Given the description of an element on the screen output the (x, y) to click on. 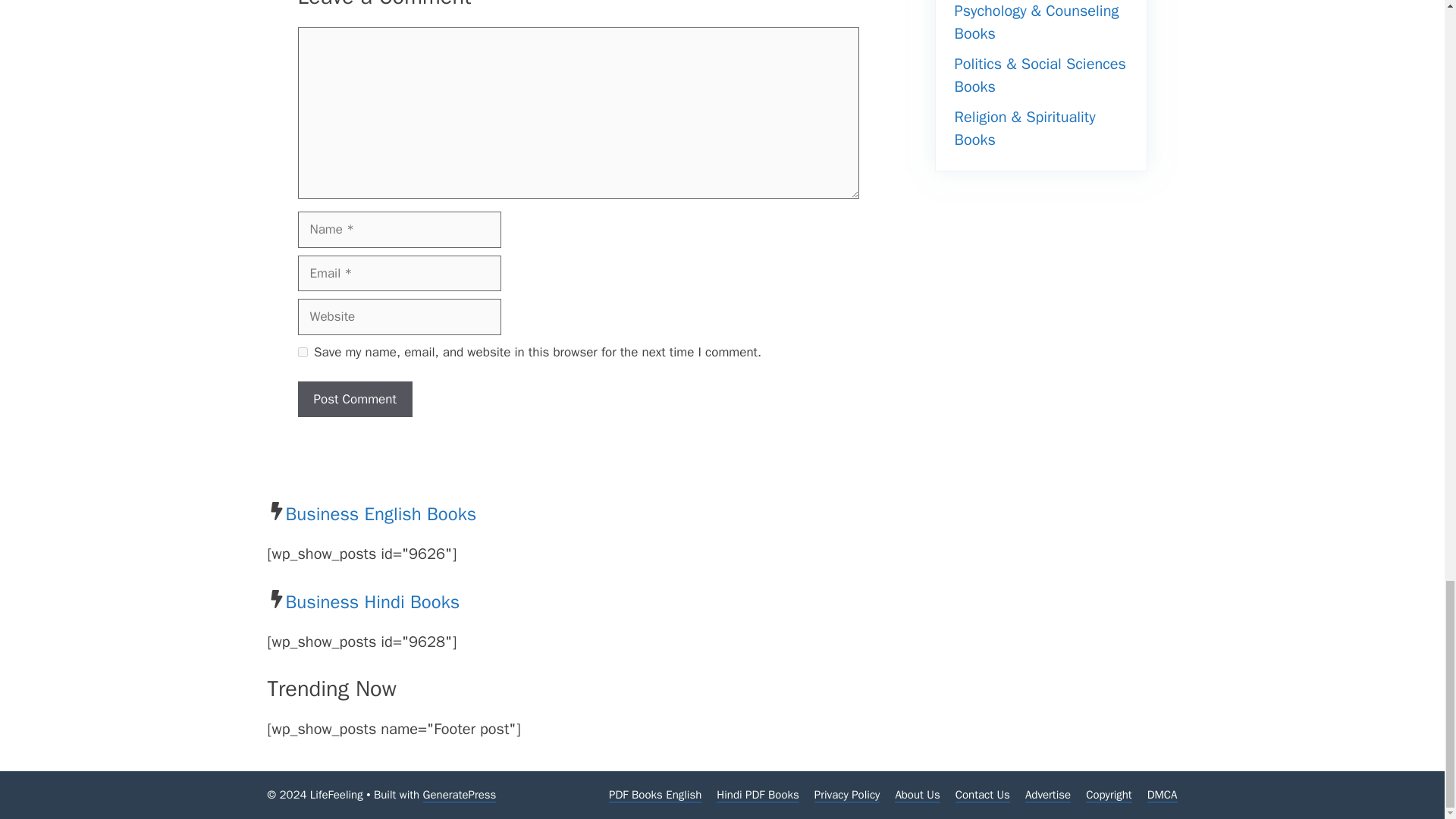
Post Comment (354, 399)
yes (302, 352)
Post Comment (354, 399)
